Given the description of an element on the screen output the (x, y) to click on. 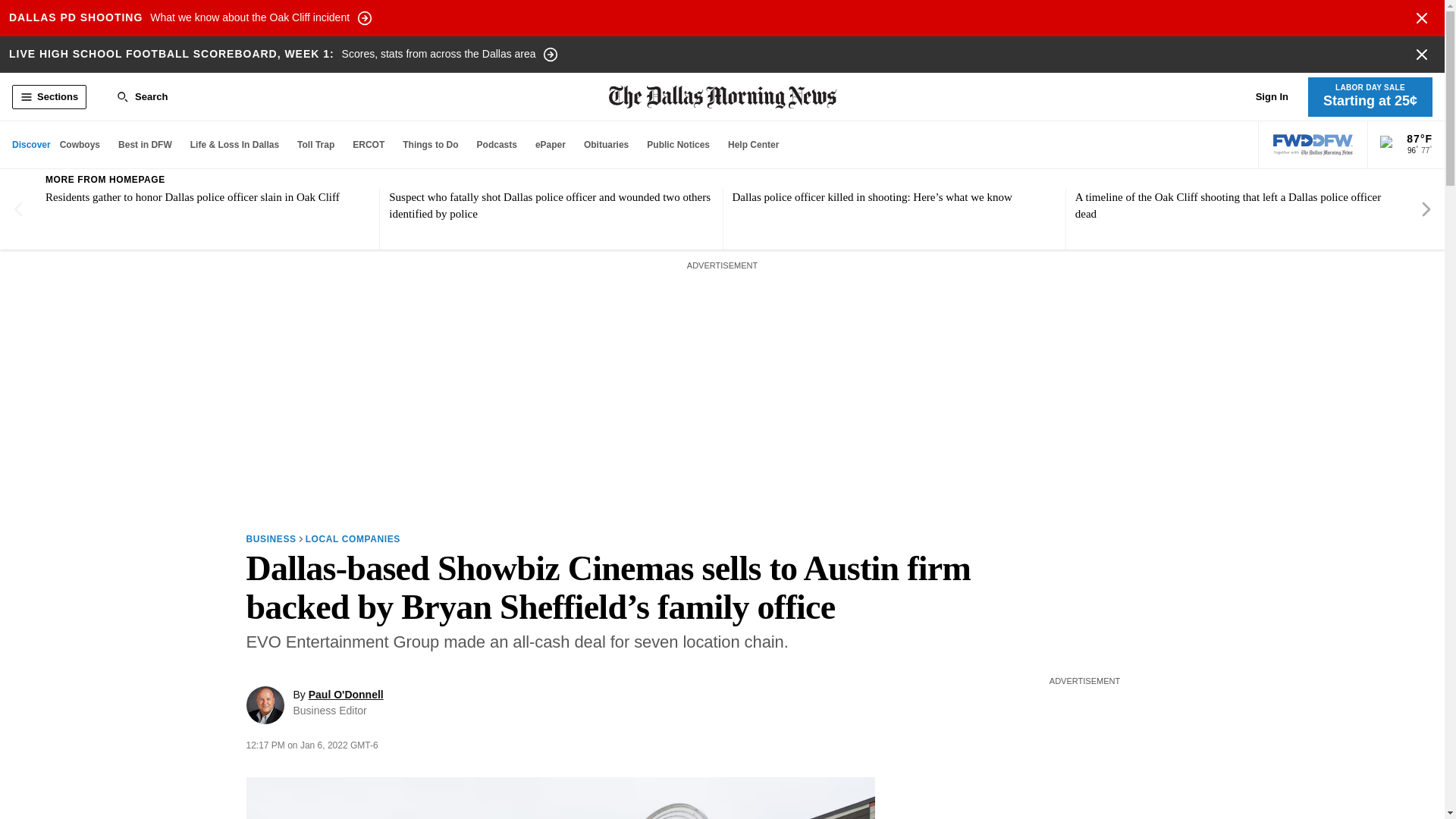
FWD DFW, Together with The Dallas Morning News (1313, 145)
Scattered clouds (186, 18)
